Given the description of an element on the screen output the (x, y) to click on. 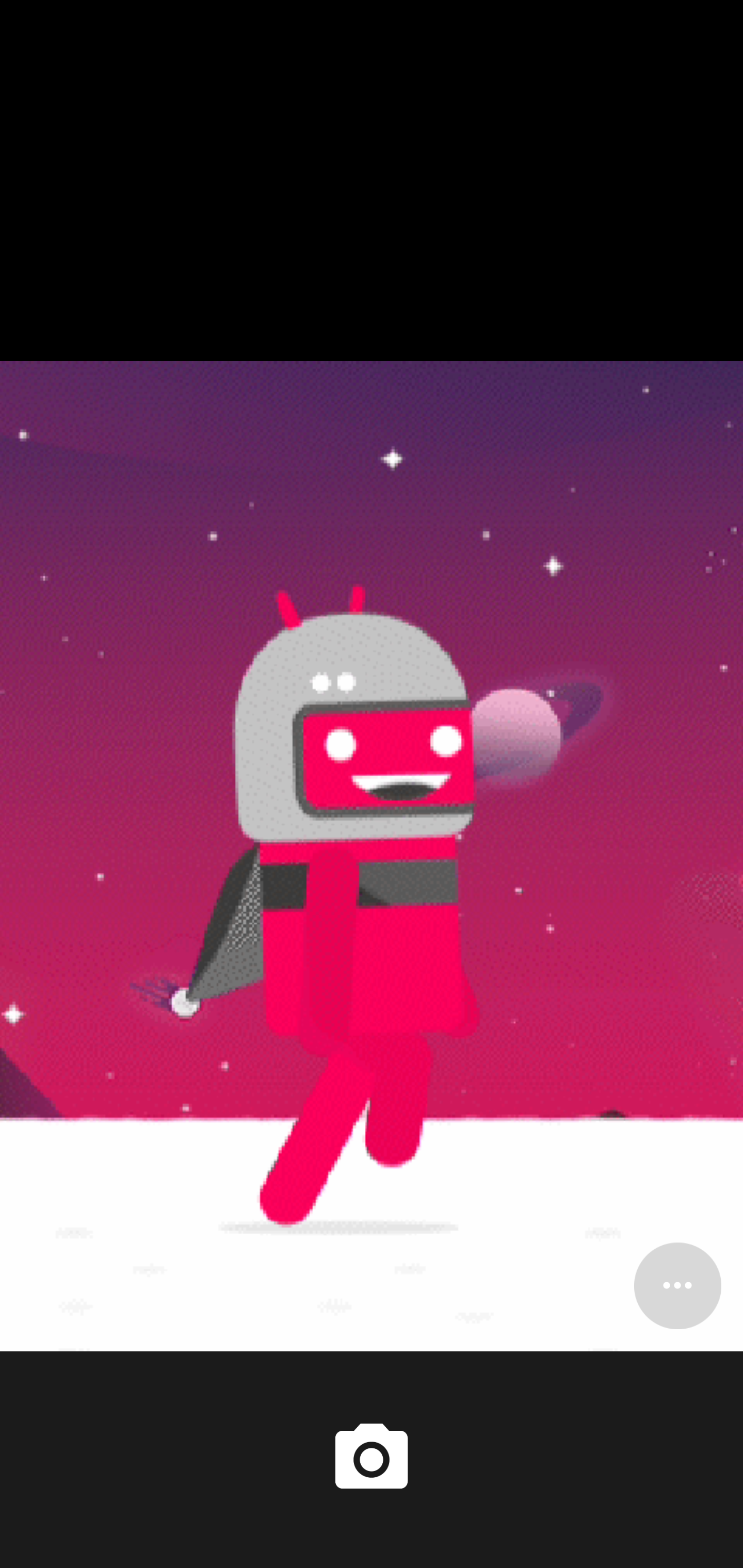
Options (677, 1285)
Shutter (371, 1459)
